Given the description of an element on the screen output the (x, y) to click on. 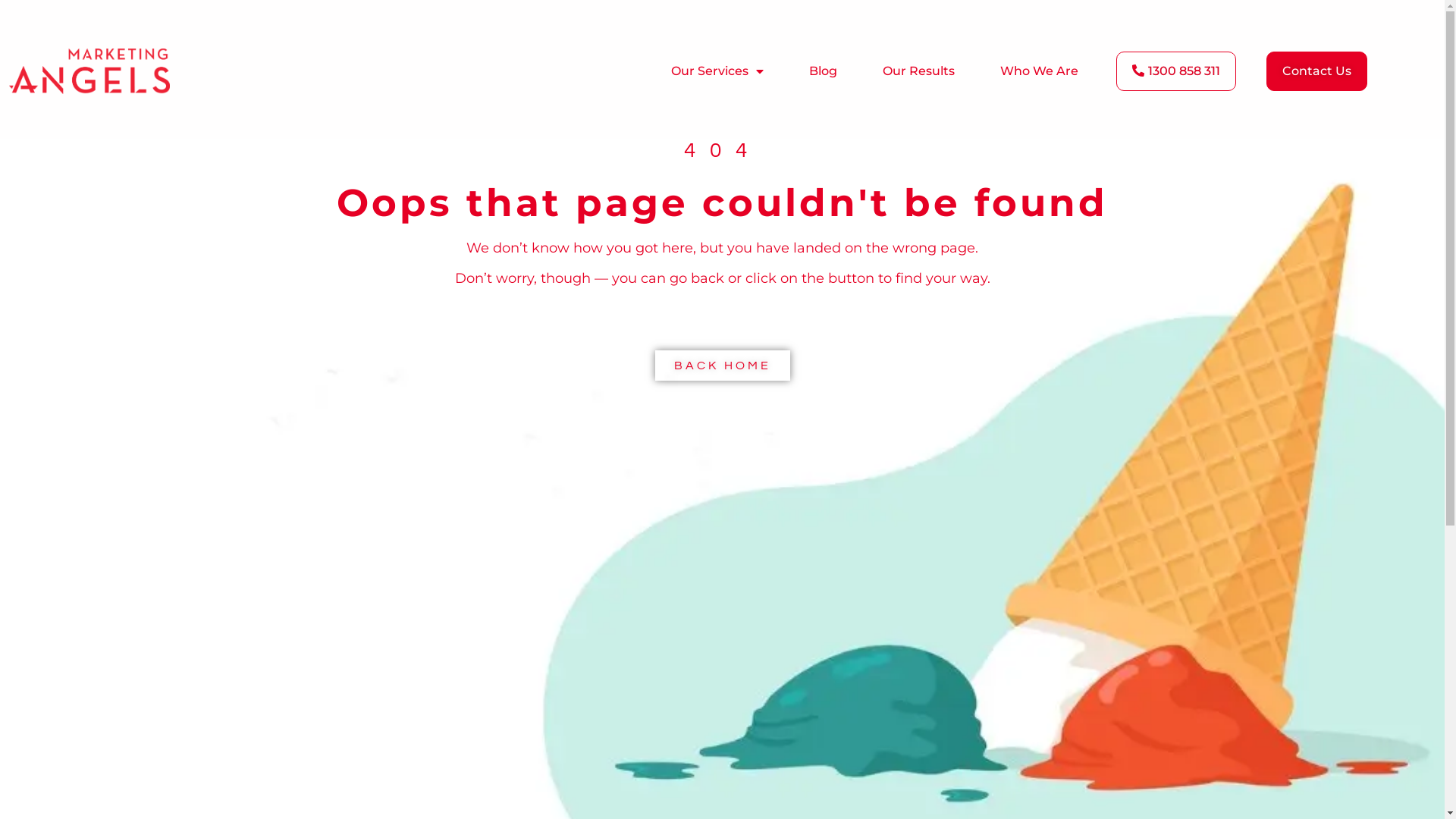
1300 858 311 Element type: text (1176, 70)
BACK HOME Element type: text (722, 365)
Blog Element type: text (822, 70)
Our Results Element type: text (918, 70)
Who We Are Element type: text (1038, 70)
Our Services Element type: text (717, 70)
Contact Us Element type: text (1316, 70)
